Given the description of an element on the screen output the (x, y) to click on. 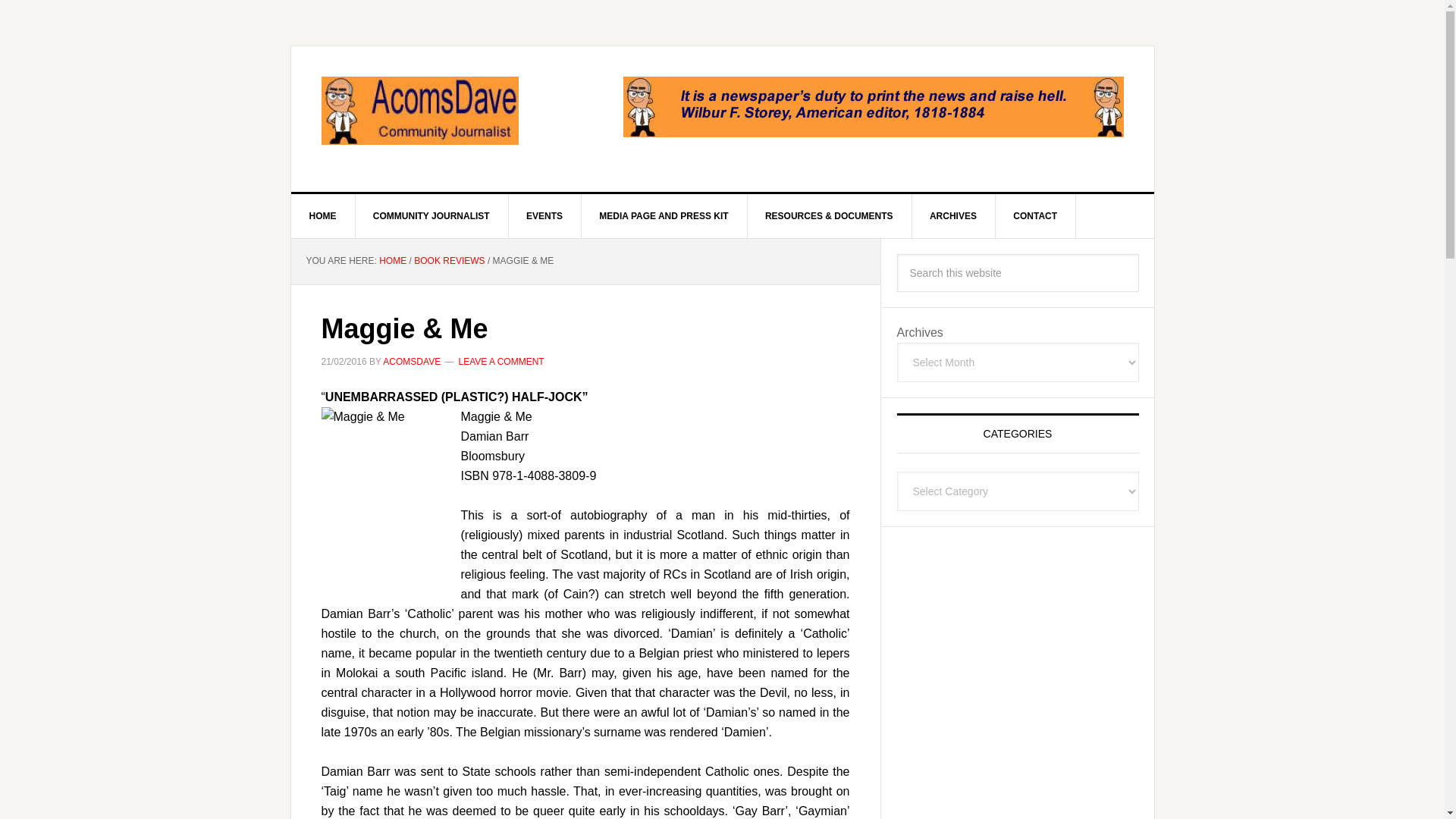
LEAVE A COMMENT (500, 361)
HOME (323, 216)
HOME (392, 260)
COMMUNITY JOURNALIST (431, 216)
ACOMSDAVE (419, 110)
ACOMSDAVE (411, 361)
MEDIA PAGE AND PRESS KIT (663, 216)
